Given the description of an element on the screen output the (x, y) to click on. 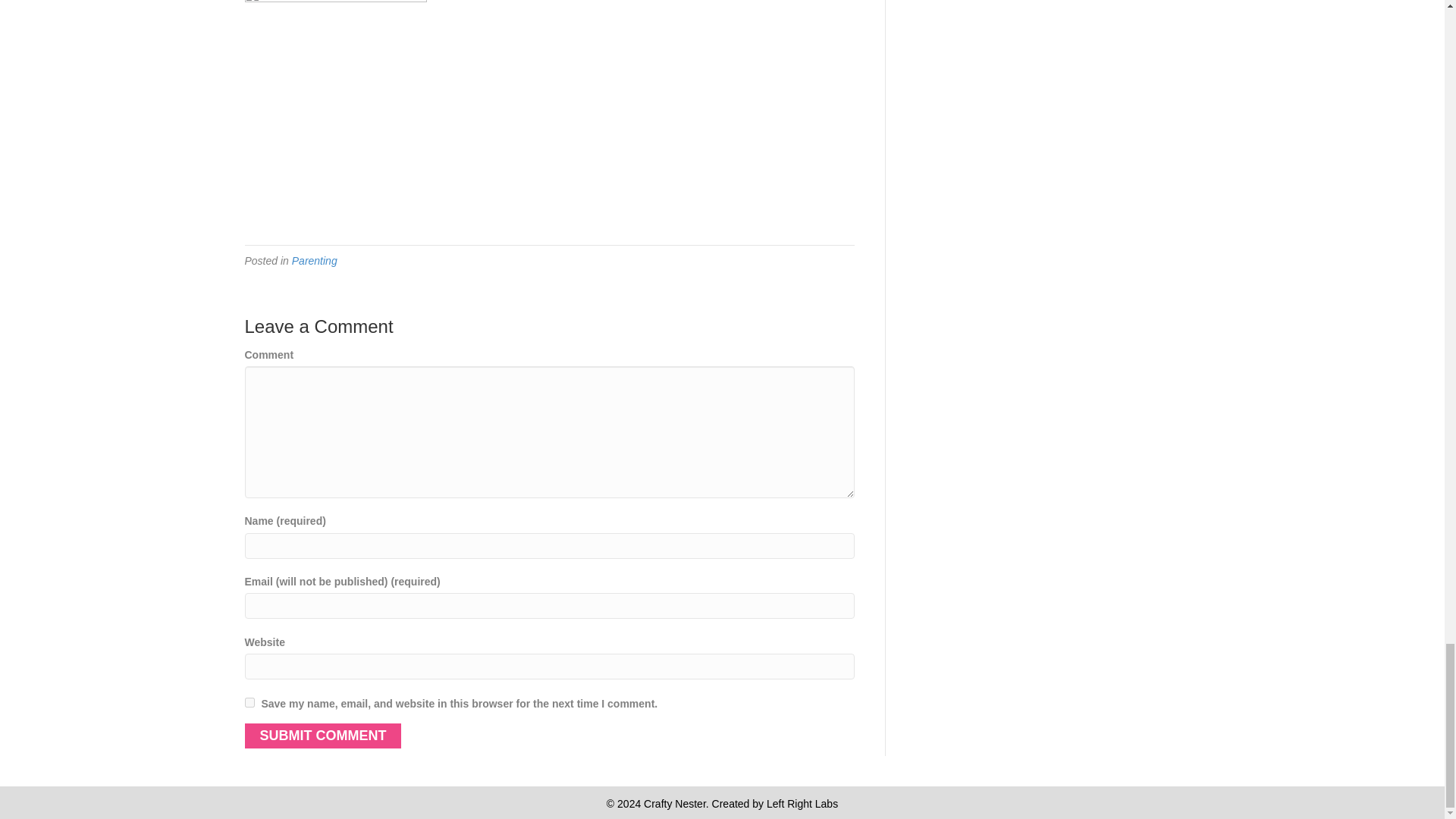
yes (248, 702)
Submit Comment (322, 736)
Submit Comment (322, 736)
Parenting (314, 260)
